Given the description of an element on the screen output the (x, y) to click on. 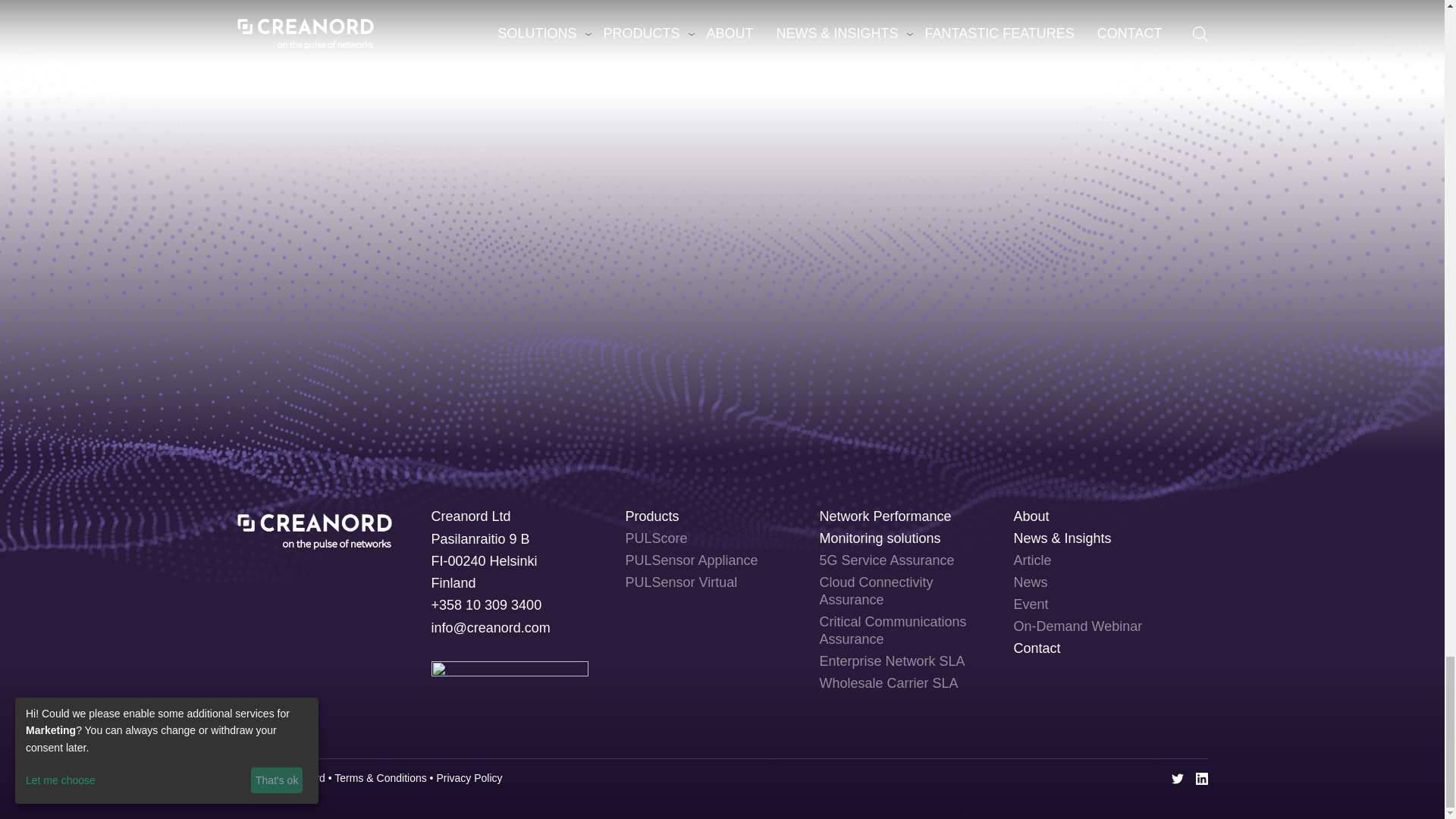
Creanord (313, 526)
